Given the description of an element on the screen output the (x, y) to click on. 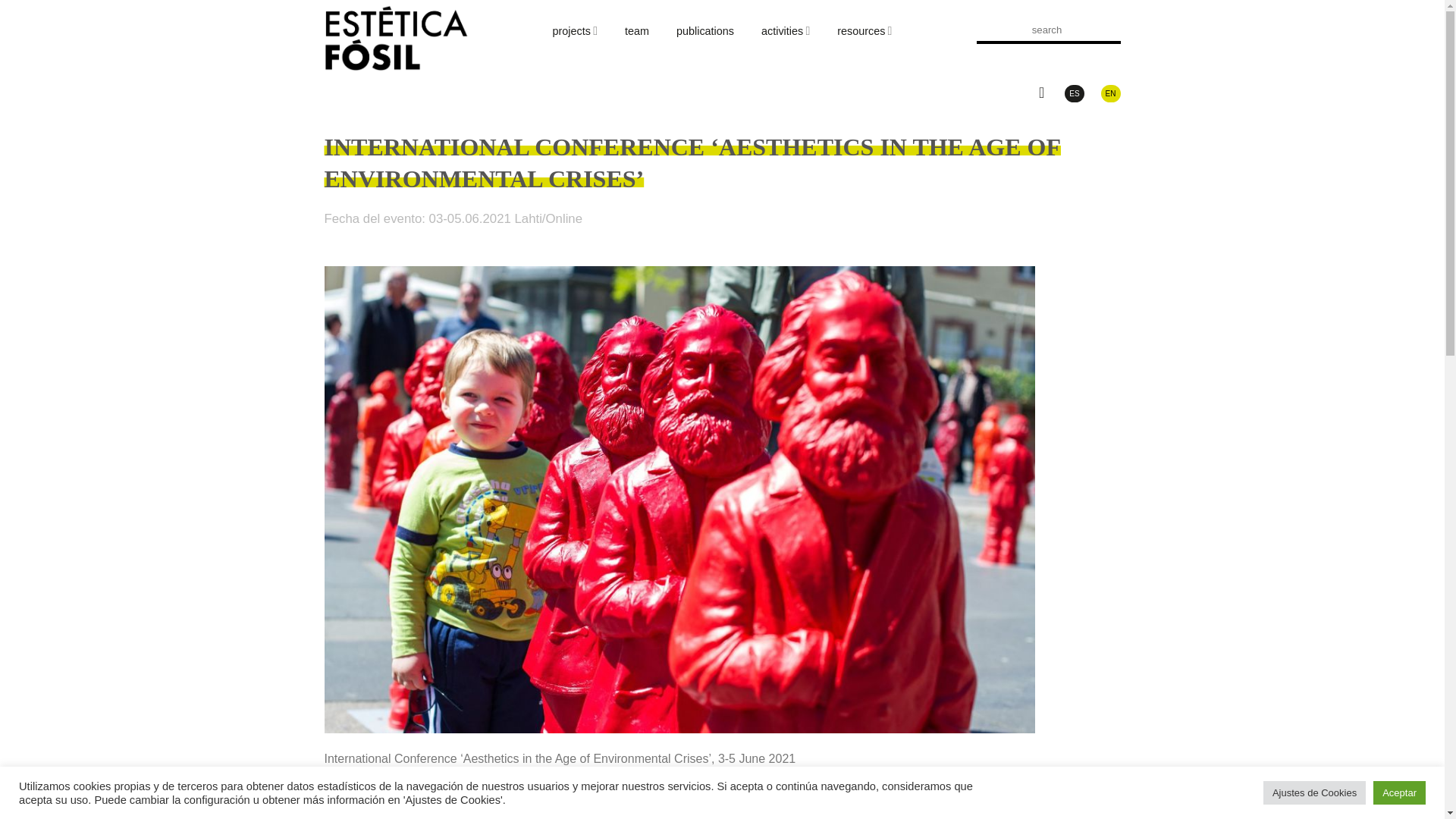
ES (1073, 93)
EN (1110, 93)
publications (705, 31)
resources (864, 30)
Estetica Fosil (396, 37)
EN (1110, 93)
ES (1073, 93)
activities (785, 30)
projects (574, 30)
